Given the description of an element on the screen output the (x, y) to click on. 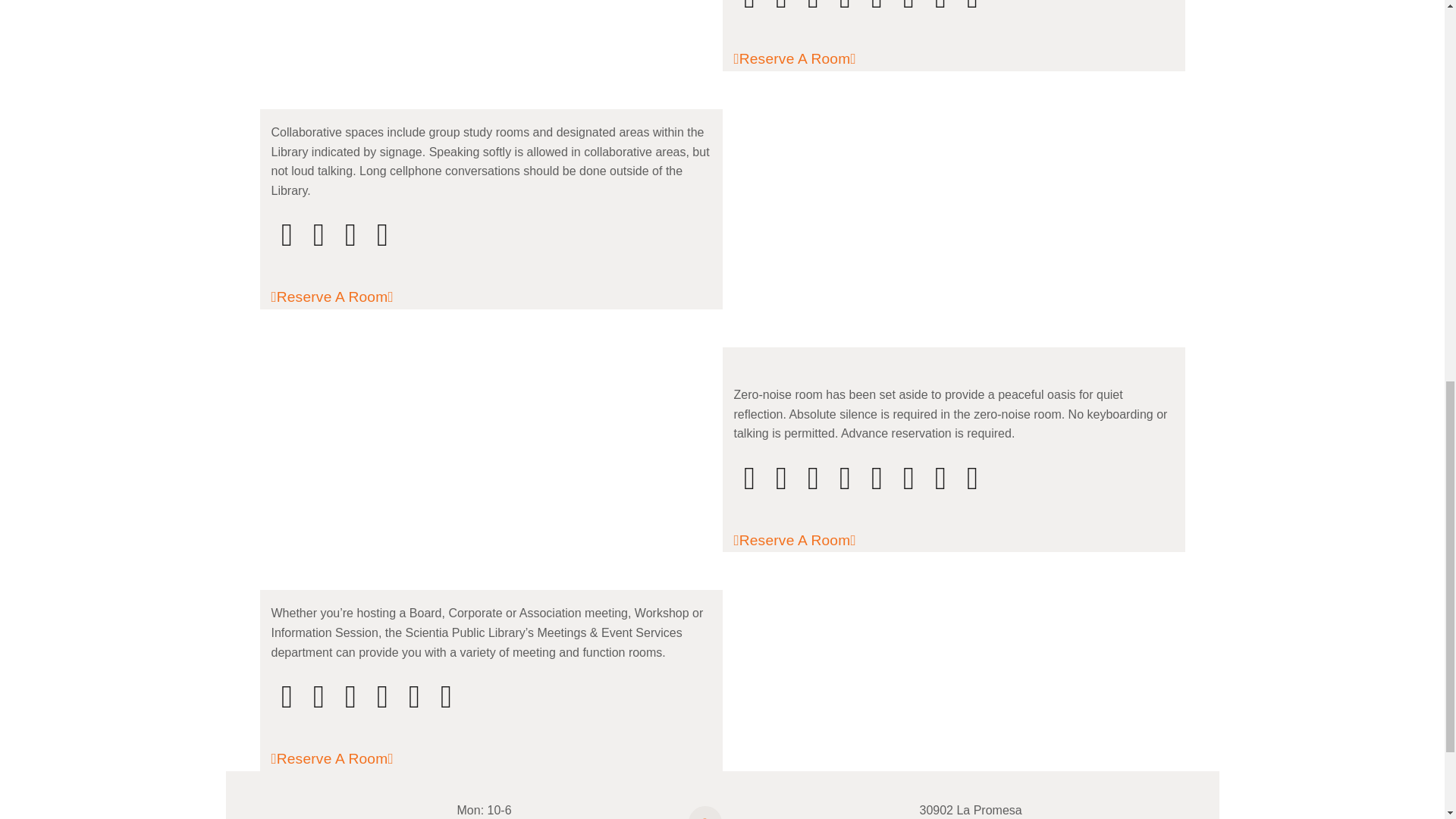
Reserve A Room (807, 58)
Reserve A Room (807, 540)
Reserve A Room (345, 758)
Reserve A Room (345, 296)
